Given the description of an element on the screen output the (x, y) to click on. 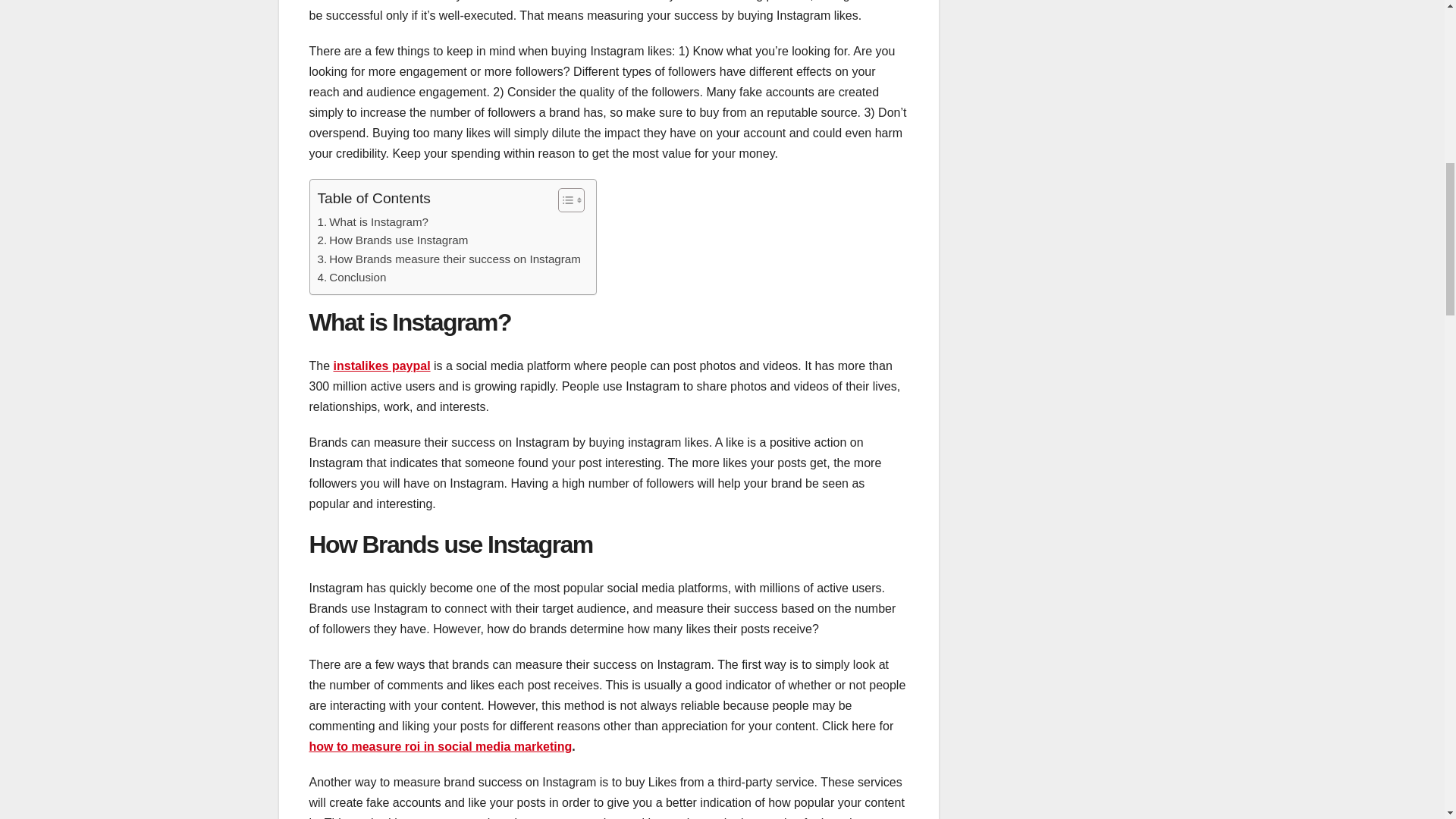
instalikes paypal (381, 365)
Conclusion (351, 277)
How Brands use Instagram (392, 239)
how to measure roi in social media marketing (440, 746)
How Brands measure their success on Instagram (448, 259)
What is Instagram? (372, 221)
